Given the description of an element on the screen output the (x, y) to click on. 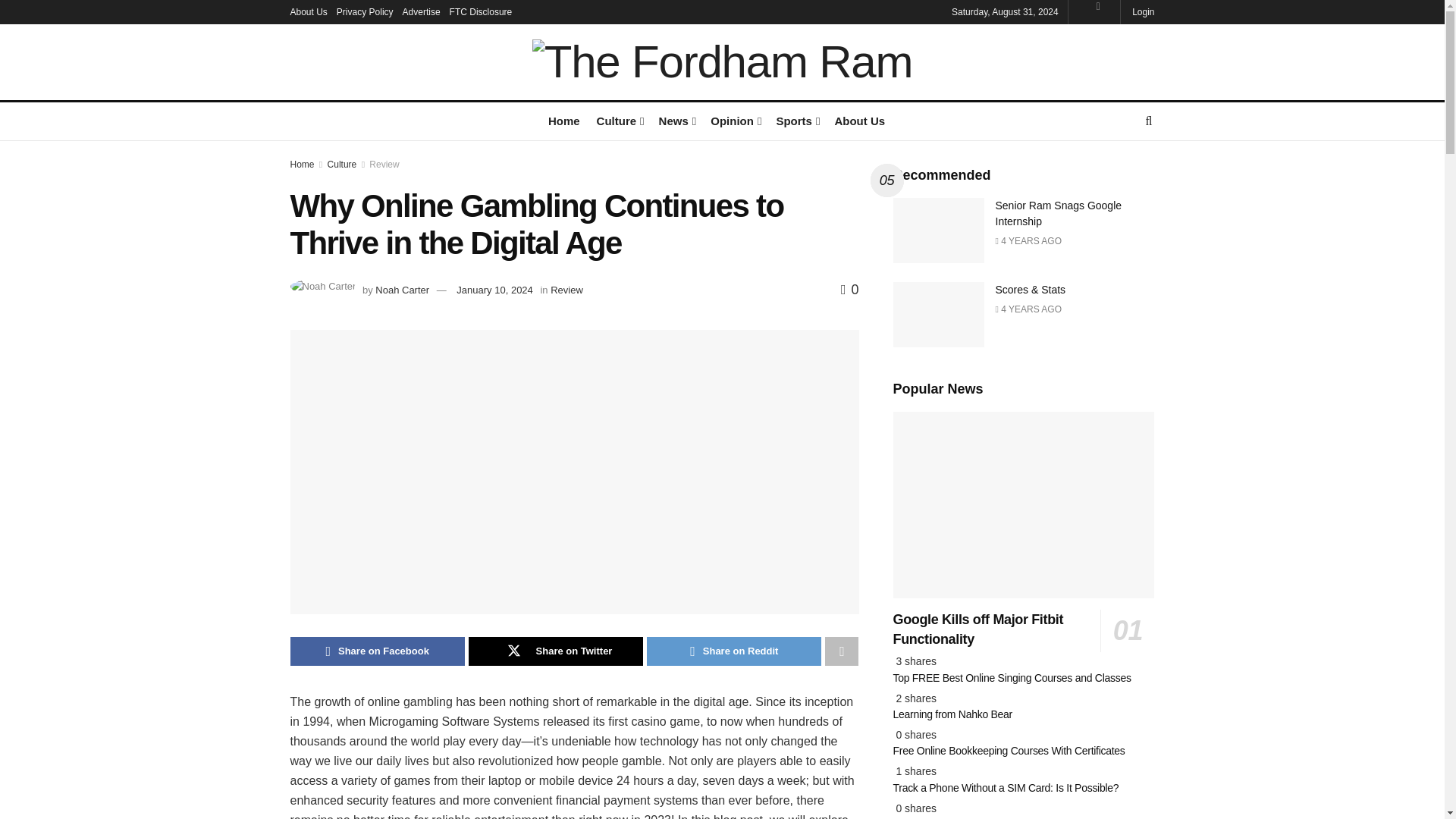
Culture (619, 120)
Privacy Policy (364, 12)
News (676, 120)
Login (1141, 12)
Sports (796, 120)
Advertise (422, 12)
Opinion (734, 120)
FTC Disclosure (480, 12)
About Us (307, 12)
Home (563, 120)
